Given the description of an element on the screen output the (x, y) to click on. 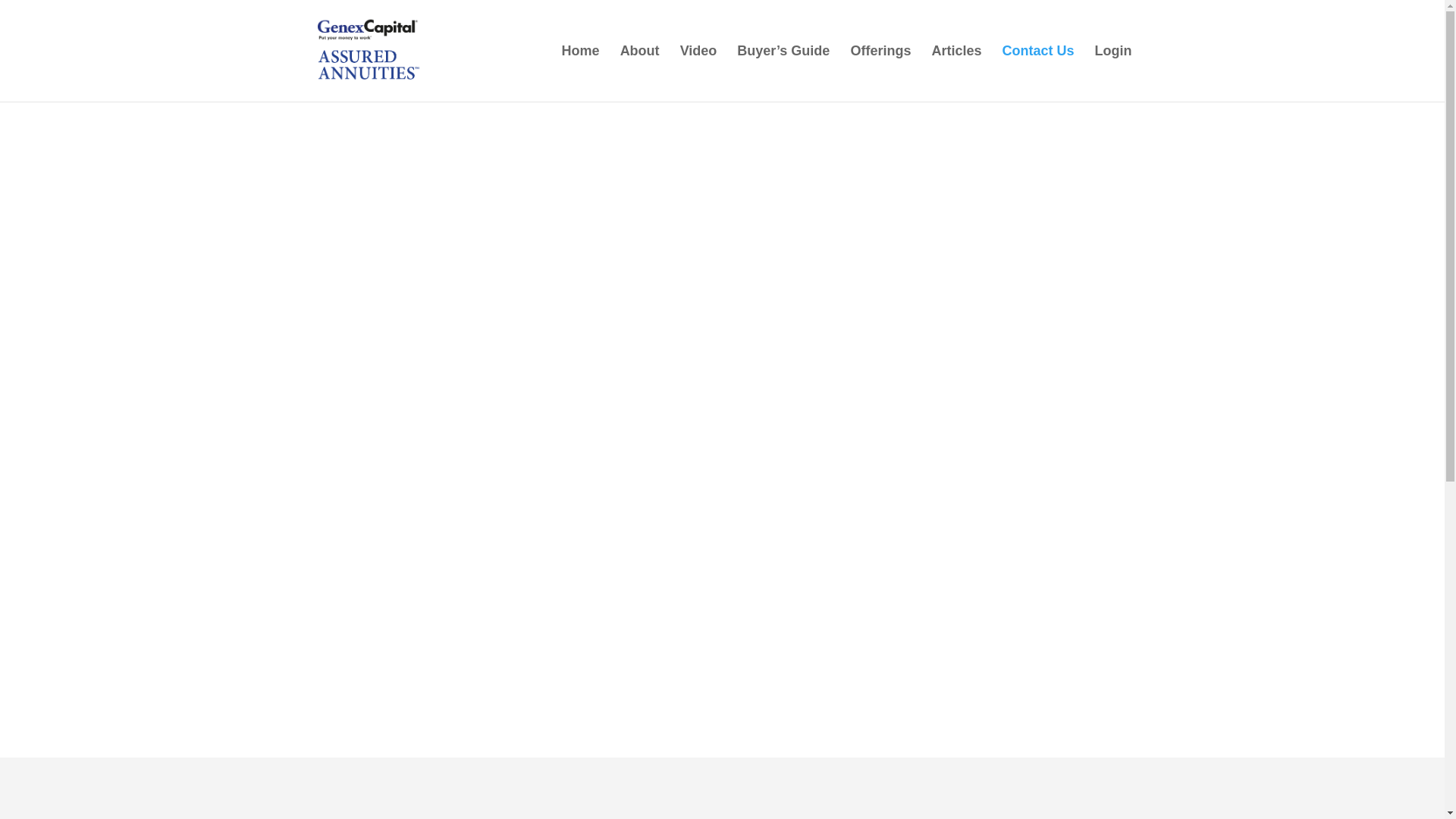
Offerings (880, 73)
Articles (956, 73)
Contact Us (1037, 73)
